Given the description of an element on the screen output the (x, y) to click on. 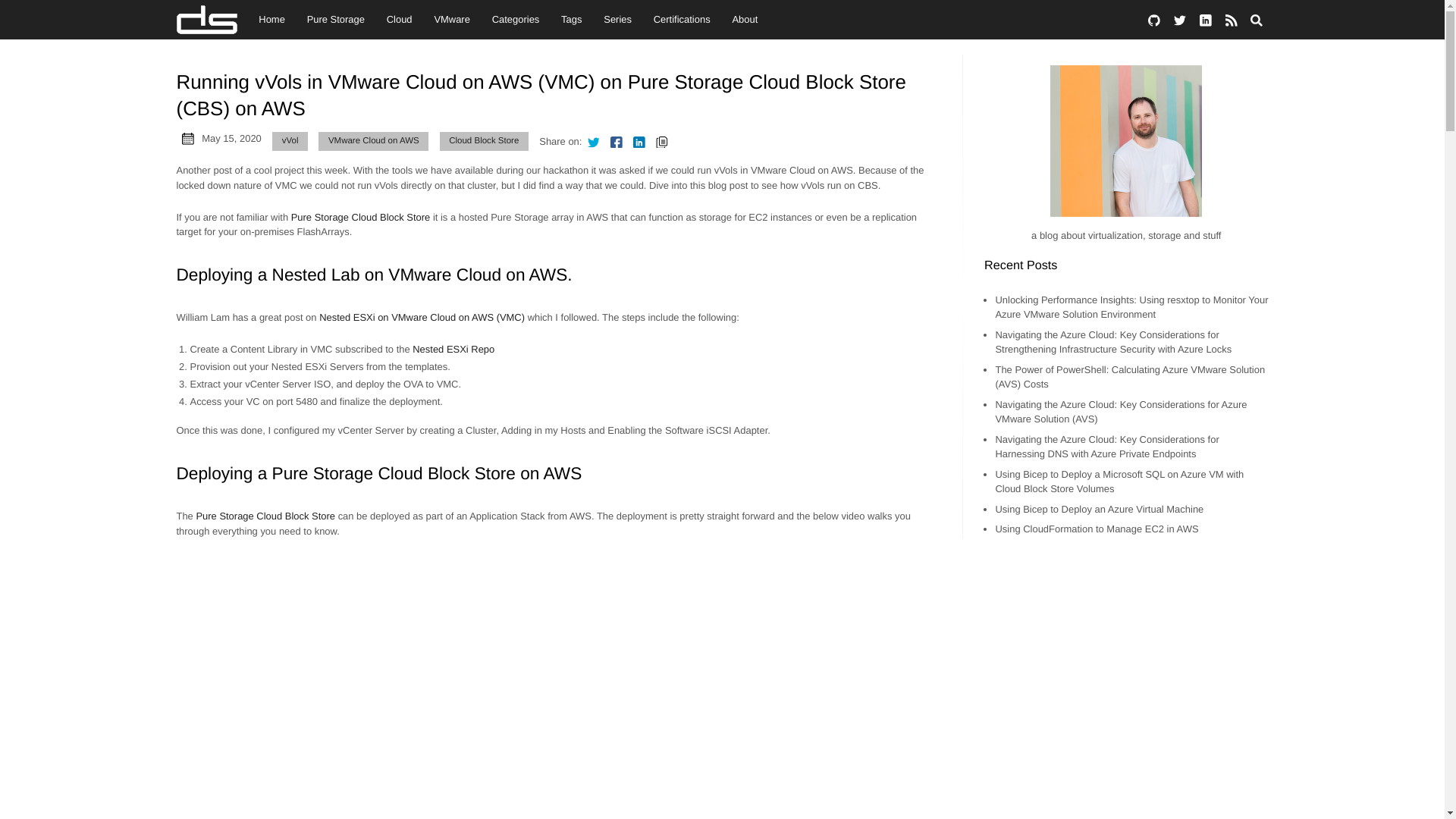
Pure Storage Cloud Block Store (264, 515)
Pure Storage (335, 19)
Categories (515, 19)
Pure Storage Cloud Block Store (360, 216)
Cloud Block Store (483, 140)
Nested ESXi Repo (453, 348)
Certifications (681, 19)
About (744, 19)
Home (271, 19)
Share on Twitter (592, 141)
Tags (571, 19)
Share on LinkedIn (638, 141)
vVol (289, 140)
VMware Cloud on AWS (373, 140)
